Given the description of an element on the screen output the (x, y) to click on. 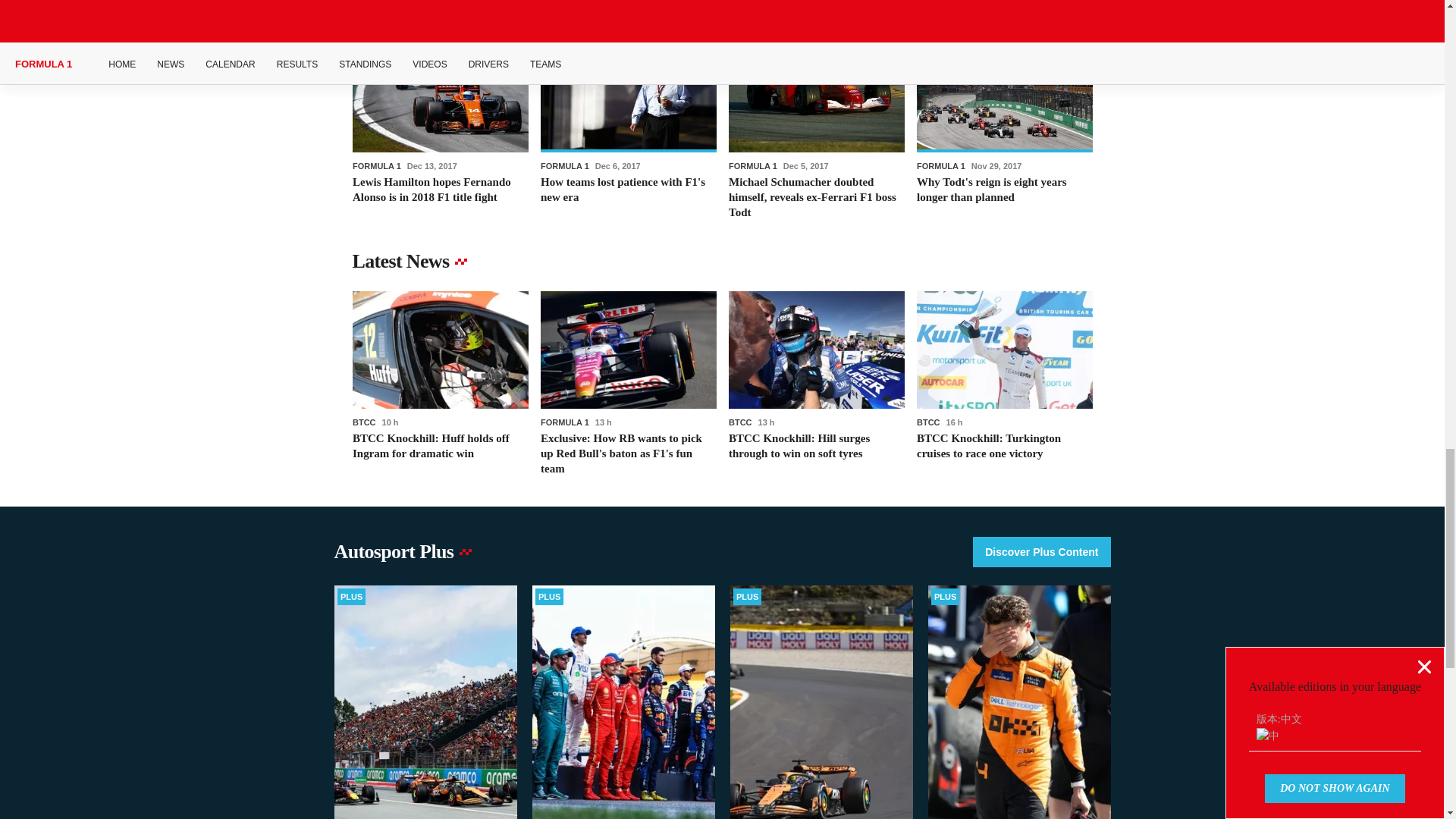
Why Todt's reign is eight years longer than planned (1003, 126)
BTCC Knockhill: Huff holds off Ingram for dramatic win (439, 382)
How teams lost patience with F1's new era (628, 126)
BTCC Knockhill: Hill surges through to win on soft tyres (816, 382)
Revealed: What F1 teams really spent in 2017 (628, 11)
BTCC Knockhill: Turkington cruises to race one victory (1003, 382)
